Given the description of an element on the screen output the (x, y) to click on. 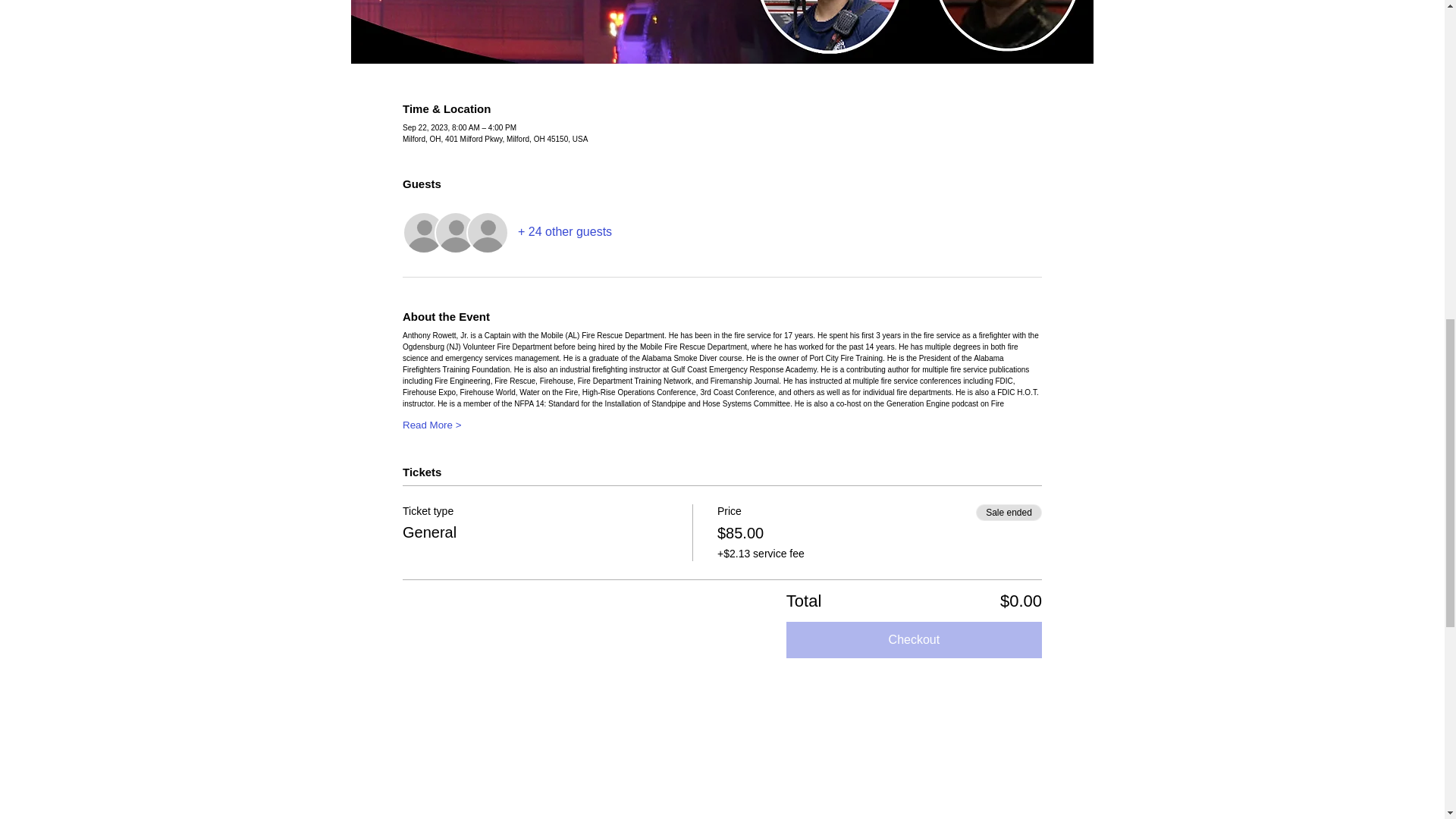
Map (721, 769)
Checkout (914, 639)
